Given the description of an element on the screen output the (x, y) to click on. 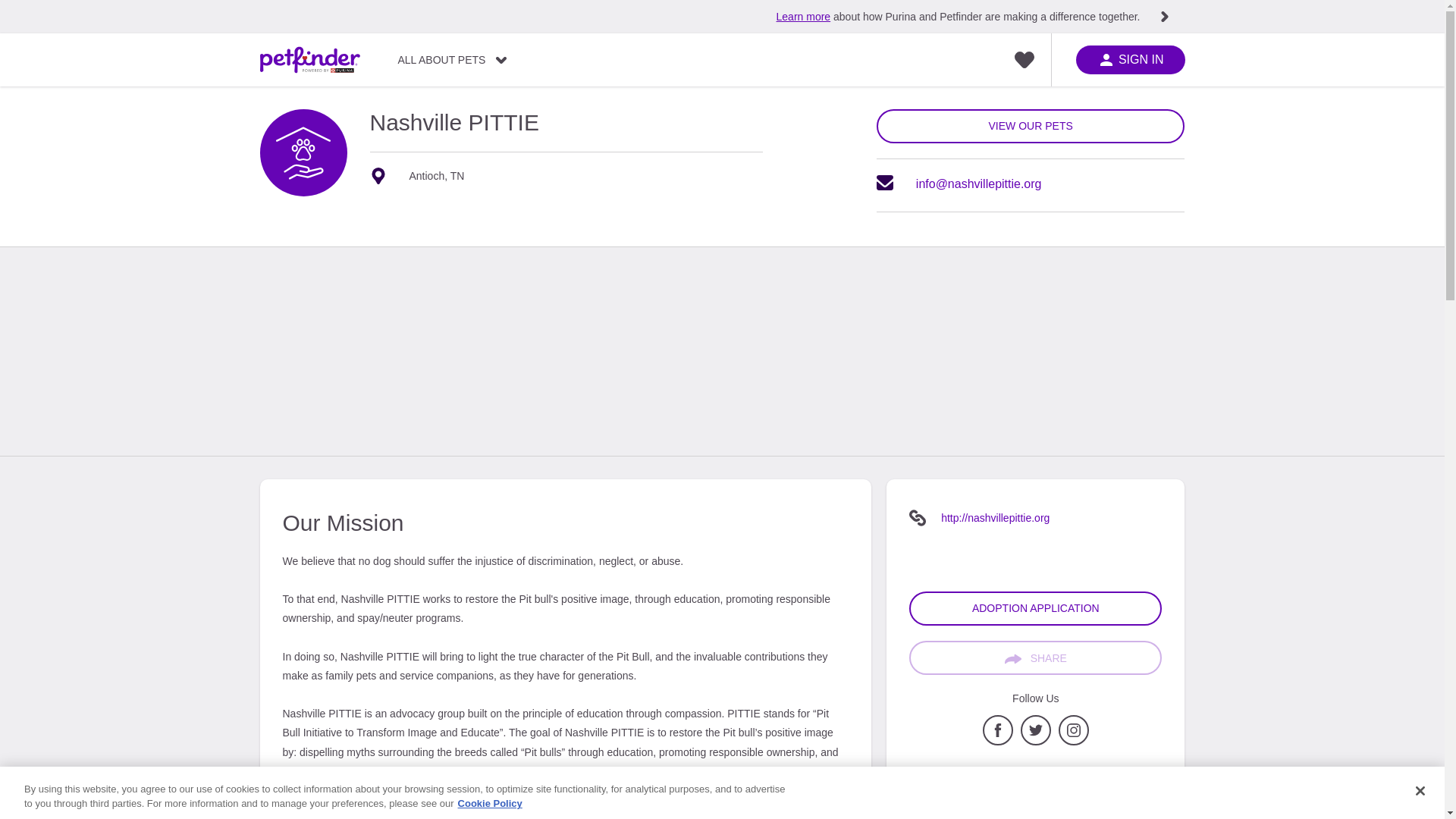
Favorites (1024, 59)
Favorites (1024, 59)
Follow Us on Twitter (1035, 741)
ALL ABOUT PETS (451, 60)
Follow Us on Facebook (997, 741)
Follow Us on Instagram (1073, 741)
SIGN IN (1130, 59)
